Given the description of an element on the screen output the (x, y) to click on. 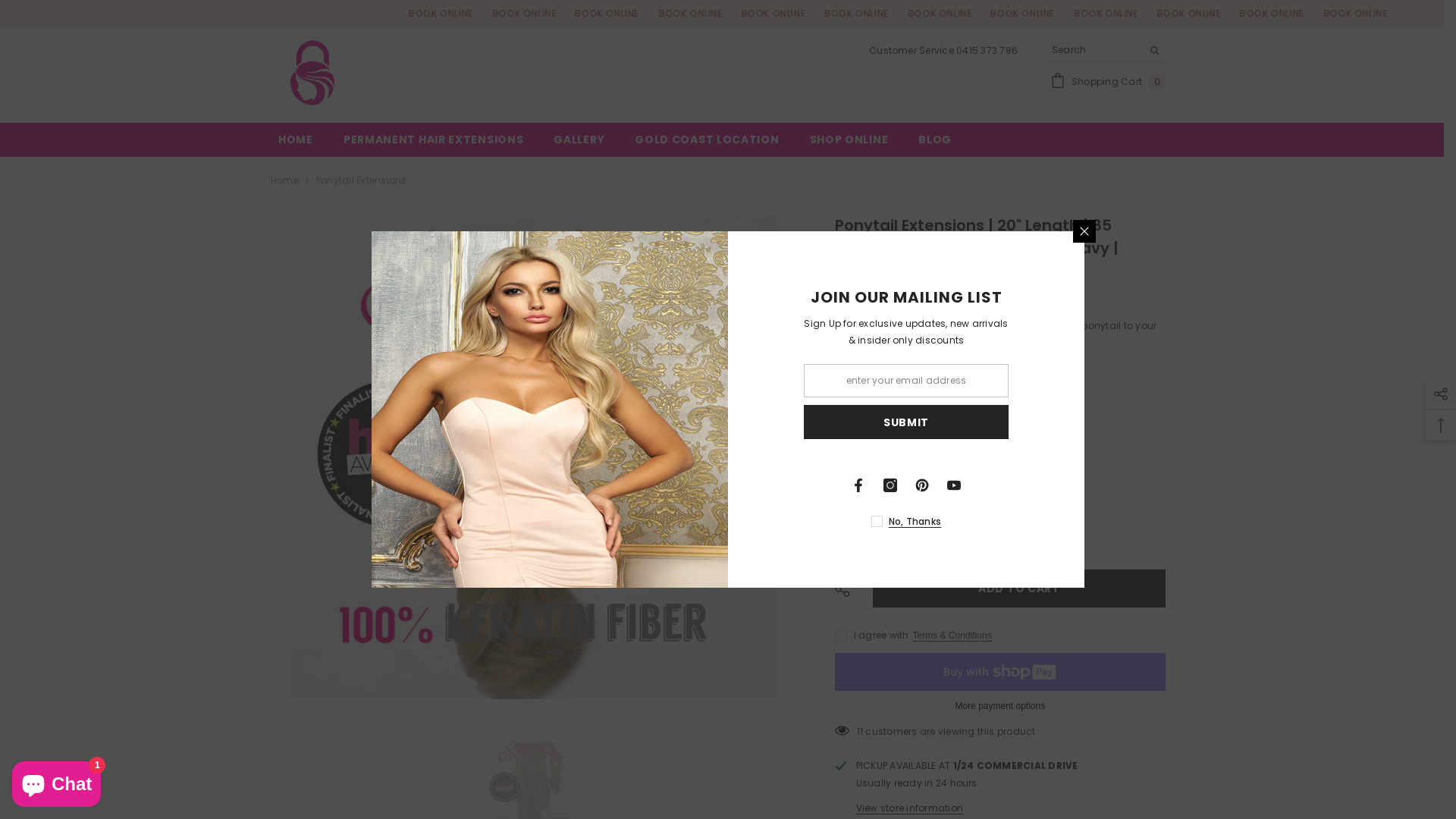
BOOK ONLINE Element type: text (708, 13)
BOOK ONLINE Element type: text (1122, 13)
Home Element type: text (284, 180)
ADD TO CART Element type: text (1018, 588)
Shopping Cart 0
0 items Element type: text (1107, 81)
SHOP ONLINE Element type: text (848, 143)
HOME Element type: text (295, 143)
SUBMIT Element type: text (905, 421)
BOOK ONLINE Element type: text (461, 13)
BOOK ONLINE Element type: text (1039, 13)
BOOK ONLINE Element type: text (957, 13)
Terms & Conditions Element type: text (952, 635)
BOOK ONLINE Element type: text (1205, 13)
YouTube Element type: text (953, 485)
Pinterest Element type: text (922, 485)
BOOK ONLINE Element type: text (791, 13)
BOOK ONLINE Element type: text (543, 13)
BOOK ONLINE Element type: text (1371, 13)
BOOK ONLINE Element type: text (626, 13)
Instagram Element type: text (890, 485)
BOOK ONLINE Element type: text (874, 13)
Customer Service 0415 373 786 Element type: text (943, 49)
BOOK ONLINE Element type: text (1288, 13)
GALLERY Element type: text (578, 143)
Shopify online store chat Element type: hover (56, 780)
BLOG Element type: text (934, 143)
More payment options Element type: text (999, 705)
GOLD COAST LOCATION Element type: text (706, 143)
SHARE Element type: text (847, 589)
PERMANENT HAIR EXTENSIONS Element type: text (433, 143)
View store information Element type: text (909, 808)
Facebook Element type: text (858, 485)
